Given the description of an element on the screen output the (x, y) to click on. 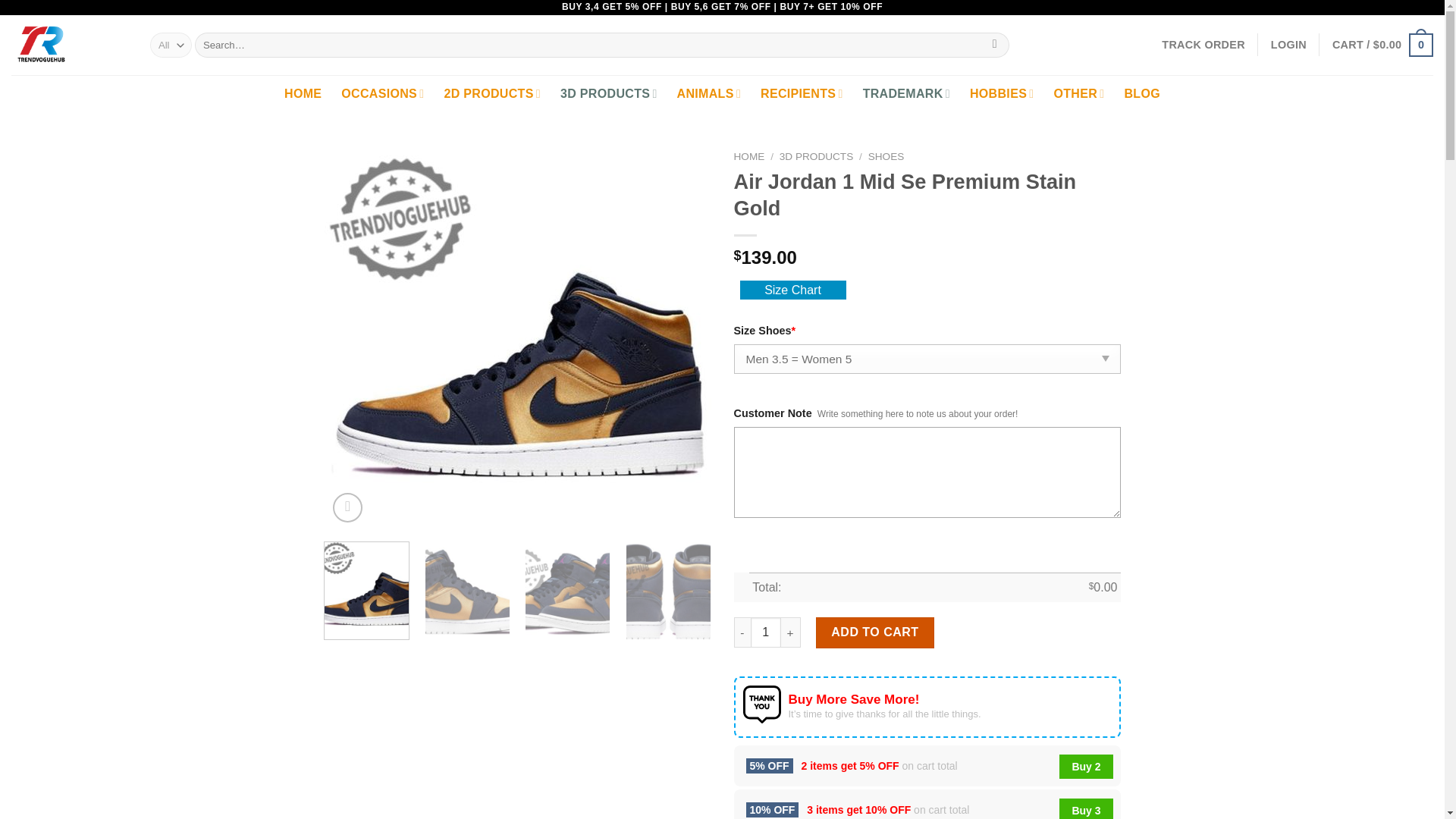
LOGIN (1288, 44)
3D PRODUCTS (609, 94)
HOME (302, 94)
Track your order here! (1202, 44)
1 (765, 632)
2D PRODUCTS (492, 94)
Zoom (347, 507)
OCCASIONS (381, 94)
Trendvoguehub - Just Your Style (69, 45)
